Given the description of an element on the screen output the (x, y) to click on. 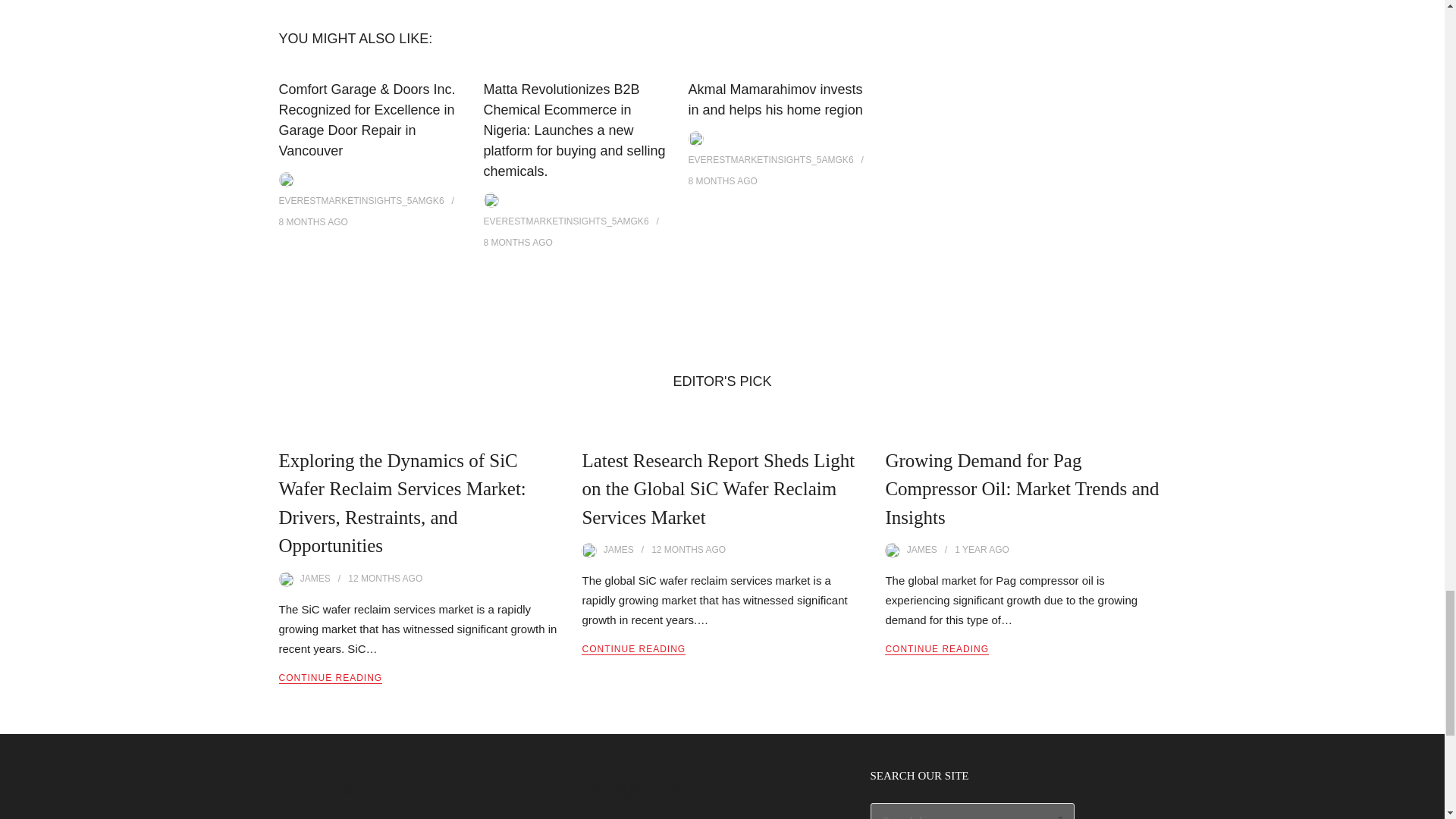
Akmal Mamarahimov invests in and helps his home region (775, 99)
Search for: (972, 811)
8 MONTHS (302, 222)
8 MONTHS (507, 242)
8 MONTHS (711, 181)
